Given the description of an element on the screen output the (x, y) to click on. 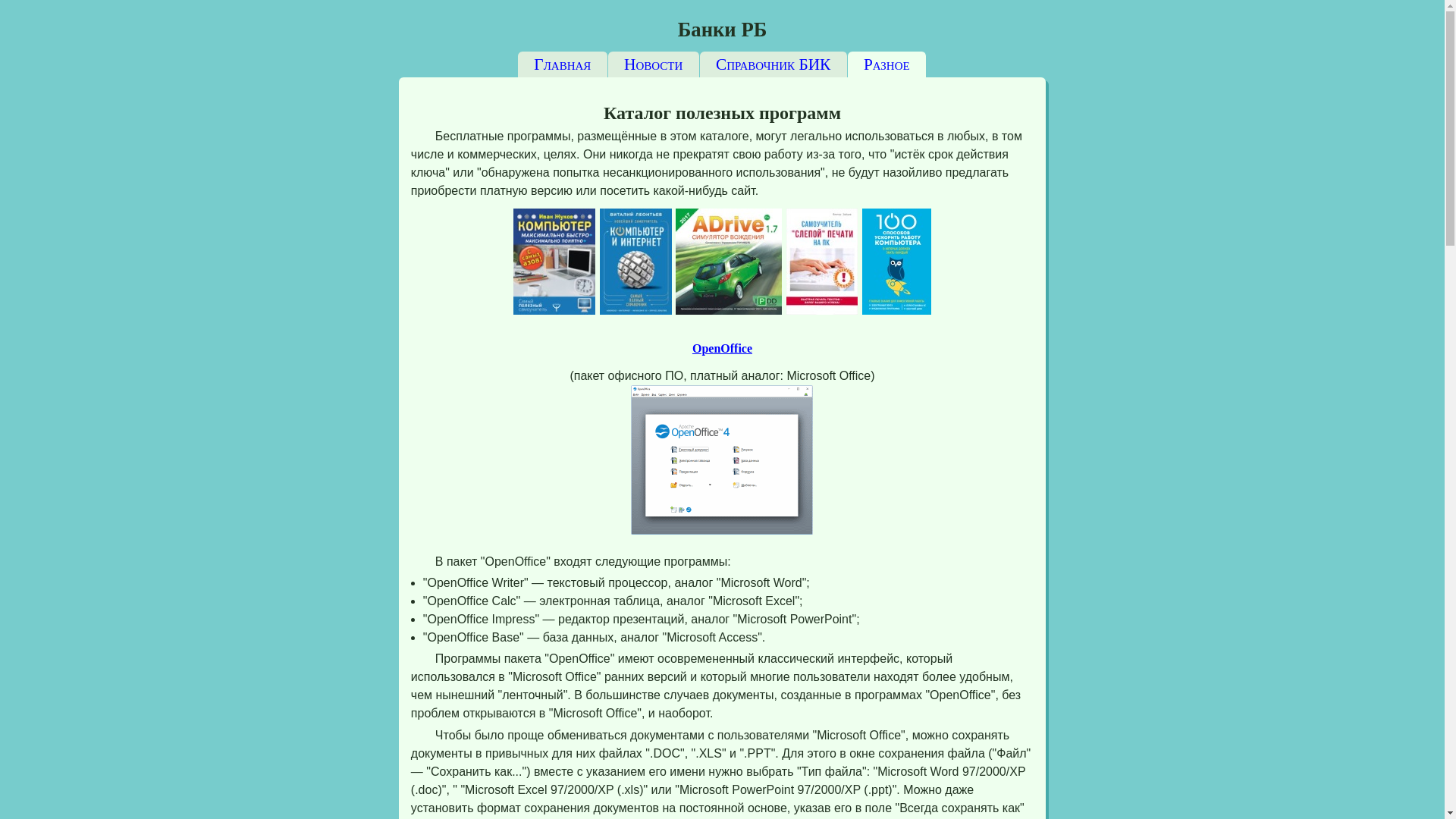
OpenOffice Element type: text (722, 348)
